Given the description of an element on the screen output the (x, y) to click on. 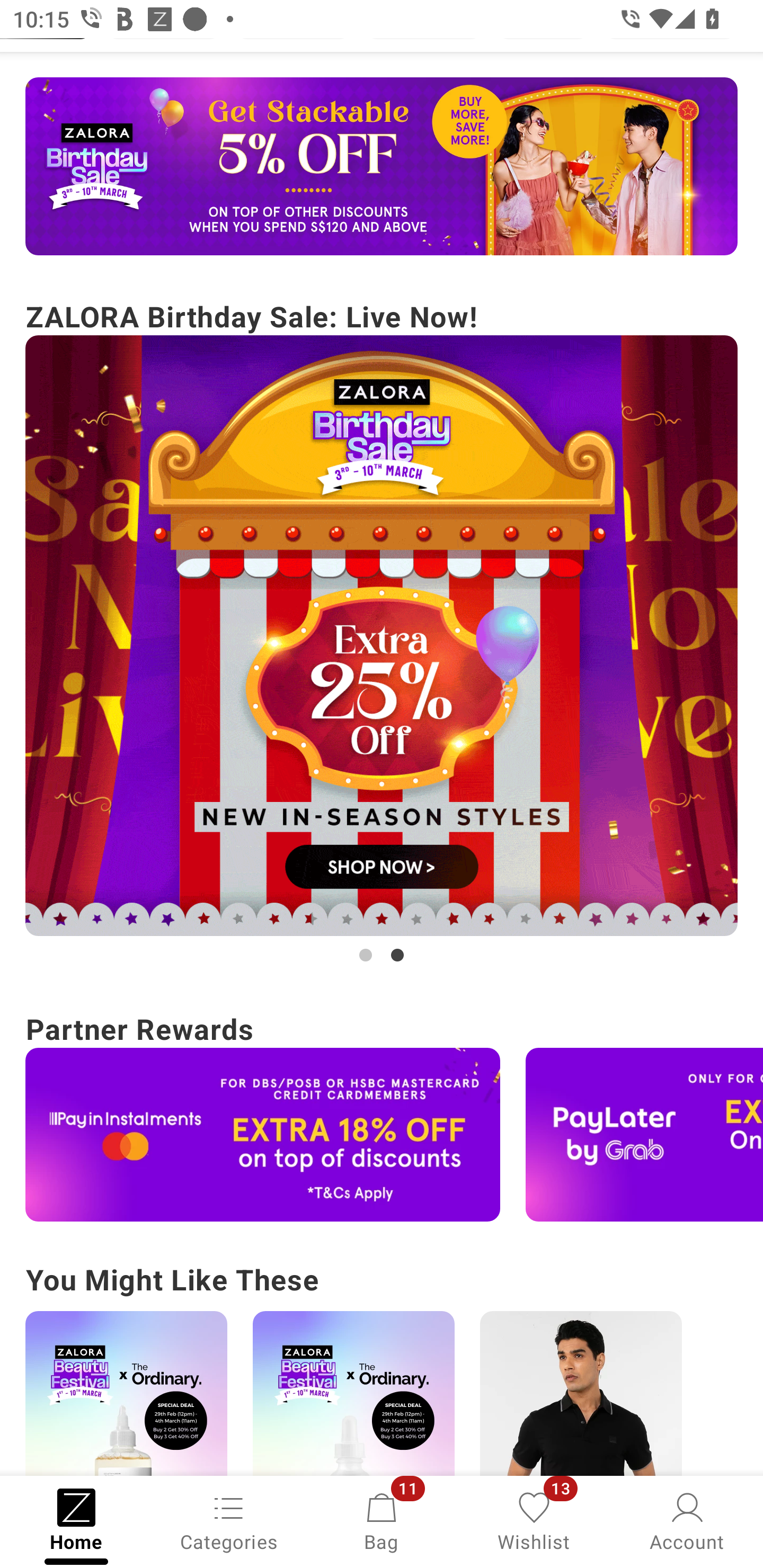
Campaign banner (381, 165)
ZALORA Birthday Sale: Live Now! Campaign banner (381, 630)
Campaign banner (381, 635)
Partner Rewards Campaign banner Campaign banner (381, 1113)
Campaign banner (262, 1134)
Campaign banner (644, 1134)
Campaign banner (126, 1392)
Campaign banner (353, 1392)
Campaign banner (580, 1392)
Categories (228, 1519)
Bag, 11 new notifications Bag (381, 1519)
Wishlist, 13 new notifications Wishlist (533, 1519)
Account (686, 1519)
